Given the description of an element on the screen output the (x, y) to click on. 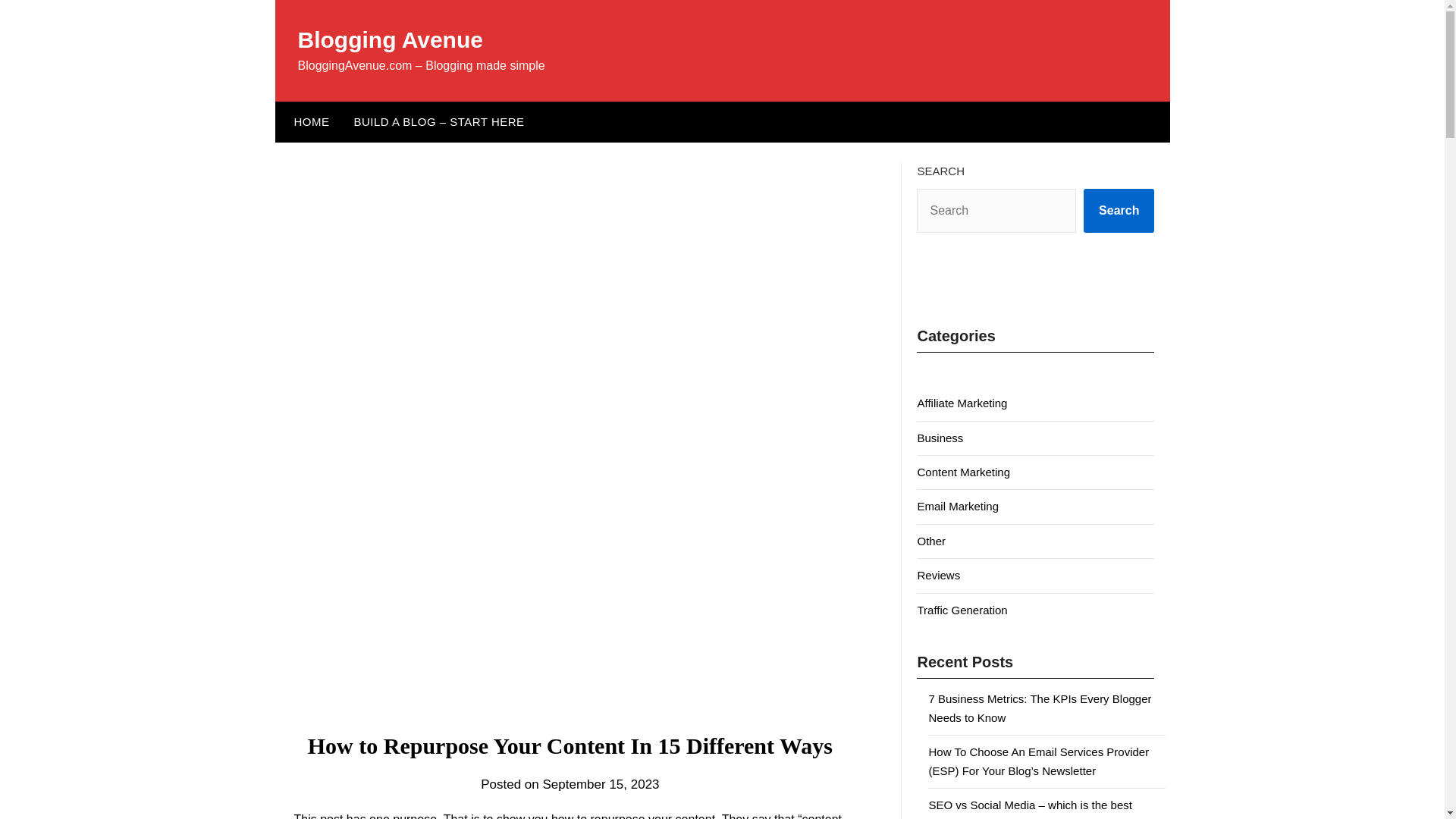
Email Marketing (957, 505)
Traffic Generation (962, 609)
7 Business Metrics: The KPIs Every Blogger Needs to Know (1039, 707)
Other (930, 540)
HOME (307, 121)
Search (1118, 210)
Content Marketing (963, 472)
Affiliate Marketing (962, 402)
Blogging Avenue (389, 39)
Business (939, 437)
Reviews (938, 574)
